Given the description of an element on the screen output the (x, y) to click on. 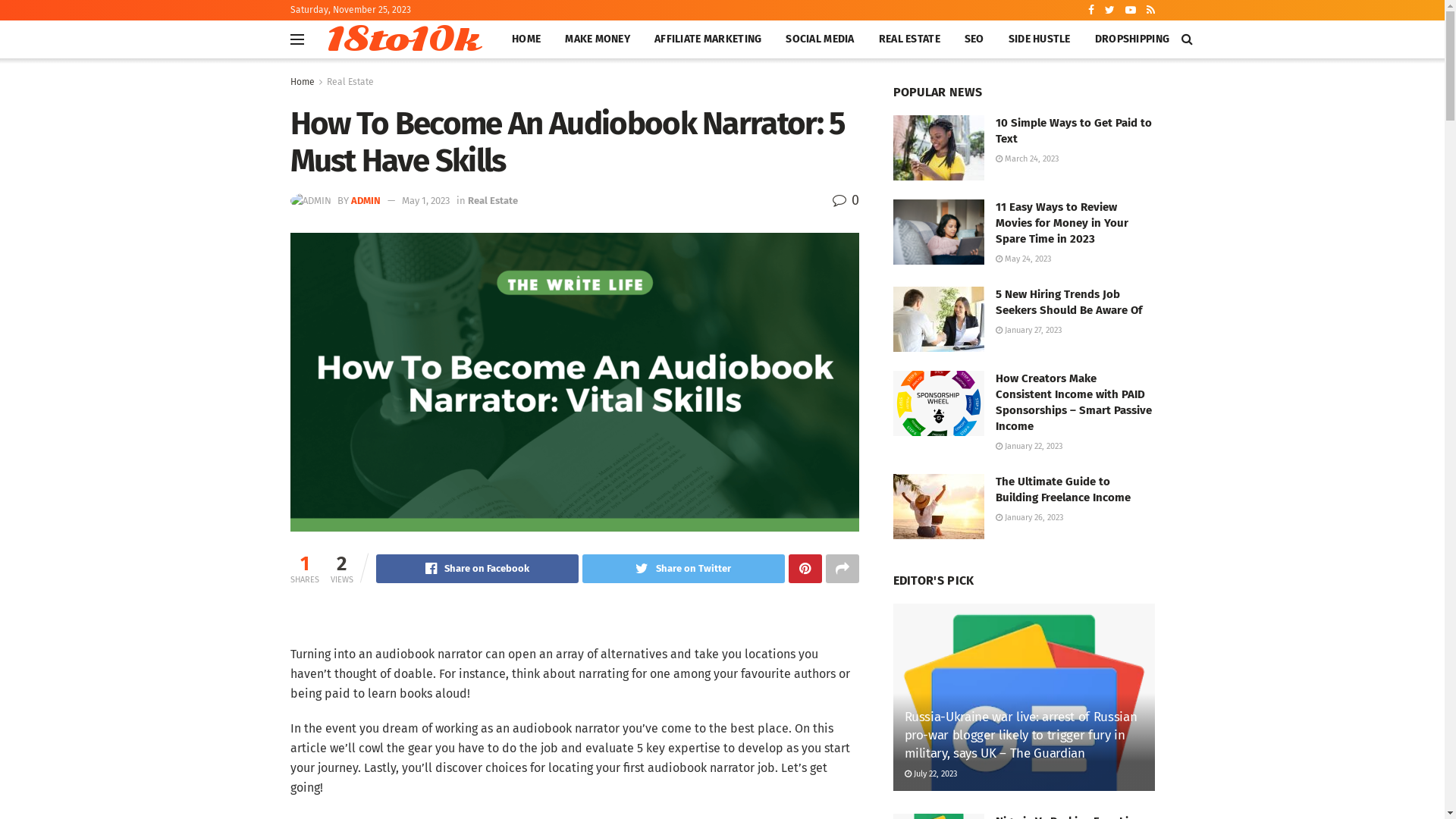
5 New Hiring Trends Job Seekers Should Be Aware Of Element type: text (1067, 301)
Home Element type: text (301, 81)
SEO Element type: text (974, 39)
May 1, 2023 Element type: text (425, 200)
0 Element type: text (845, 199)
AFFILIATE MARKETING Element type: text (707, 39)
January 26, 2023 Element type: text (1028, 517)
January 22, 2023 Element type: text (1027, 446)
10 Simple Ways to Get Paid to Text Element type: text (1072, 130)
MAKE MONEY Element type: text (597, 39)
January 27, 2023 Element type: text (1027, 330)
Real Estate Element type: text (349, 81)
REAL ESTATE Element type: text (909, 39)
SIDE HUSTLE Element type: text (1039, 39)
The Ultimate Guide to Building Freelance Income Element type: text (1061, 489)
May 24, 2023 Element type: text (1022, 258)
DROPSHIPPING Element type: text (1131, 39)
Share on Facebook Element type: text (477, 568)
July 22, 2023 Element type: text (929, 773)
March 24, 2023 Element type: text (1025, 158)
ADMIN Element type: text (364, 200)
18to10k Element type: text (401, 39)
SOCIAL MEDIA Element type: text (819, 39)
Share on Twitter Element type: text (683, 568)
HOME Element type: text (525, 39)
Real Estate Element type: text (492, 200)
